Given the description of an element on the screen output the (x, y) to click on. 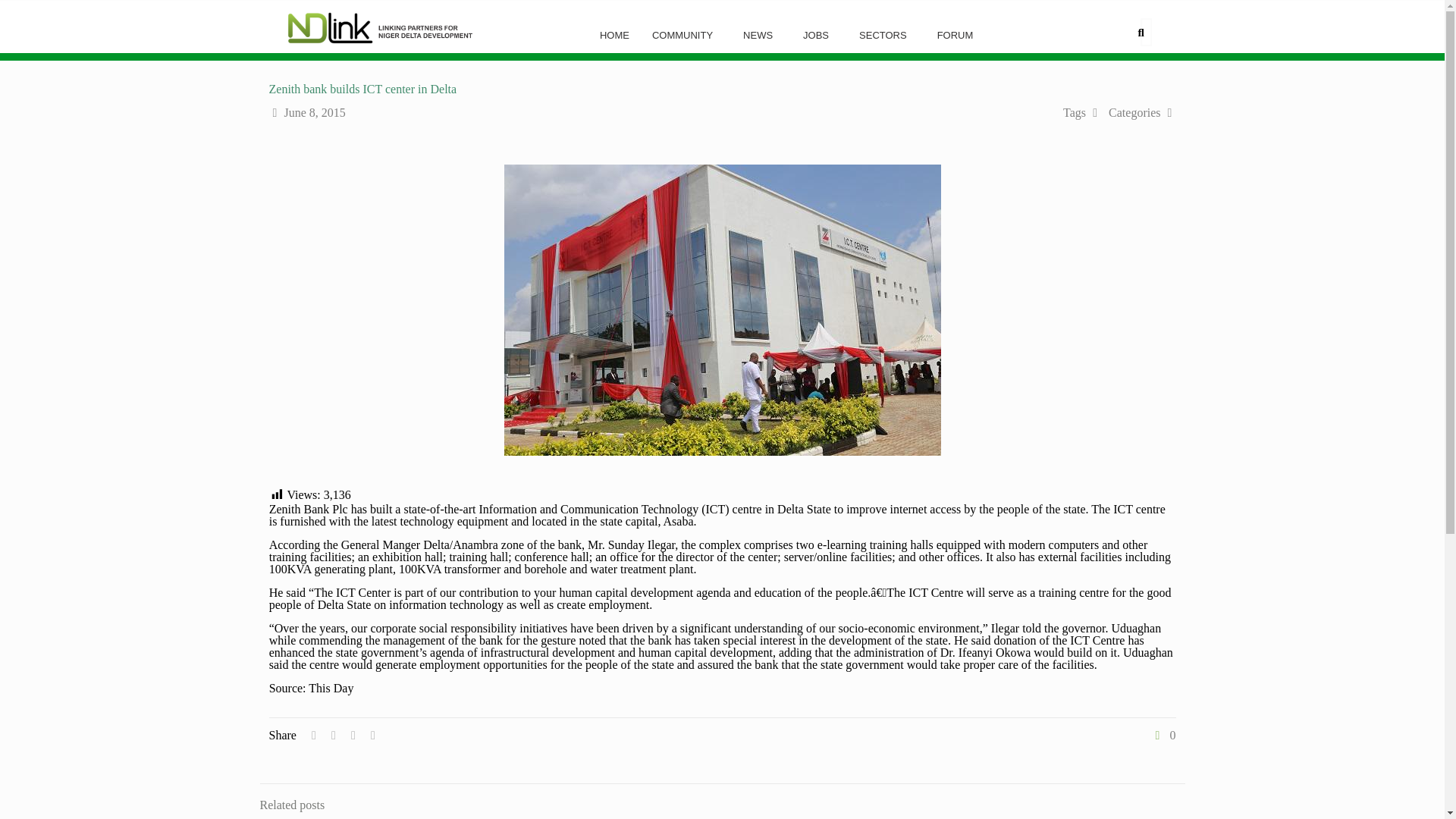
COMMUNITY (686, 34)
HOME (614, 34)
SECTORS (886, 34)
JOBS (819, 34)
FORUM (959, 34)
NEWS (762, 34)
